Given the description of an element on the screen output the (x, y) to click on. 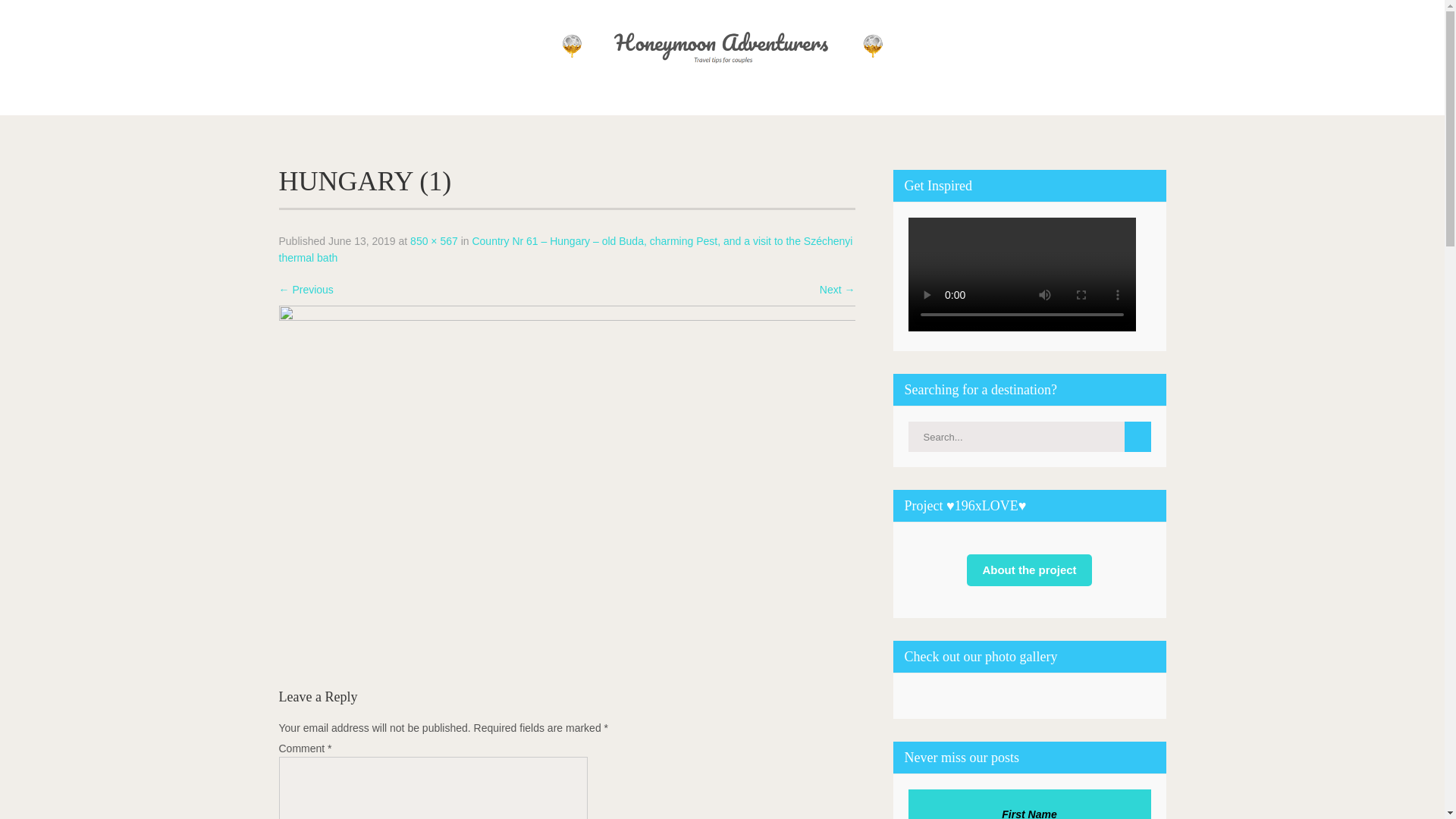
About the project (1028, 570)
